Given the description of an element on the screen output the (x, y) to click on. 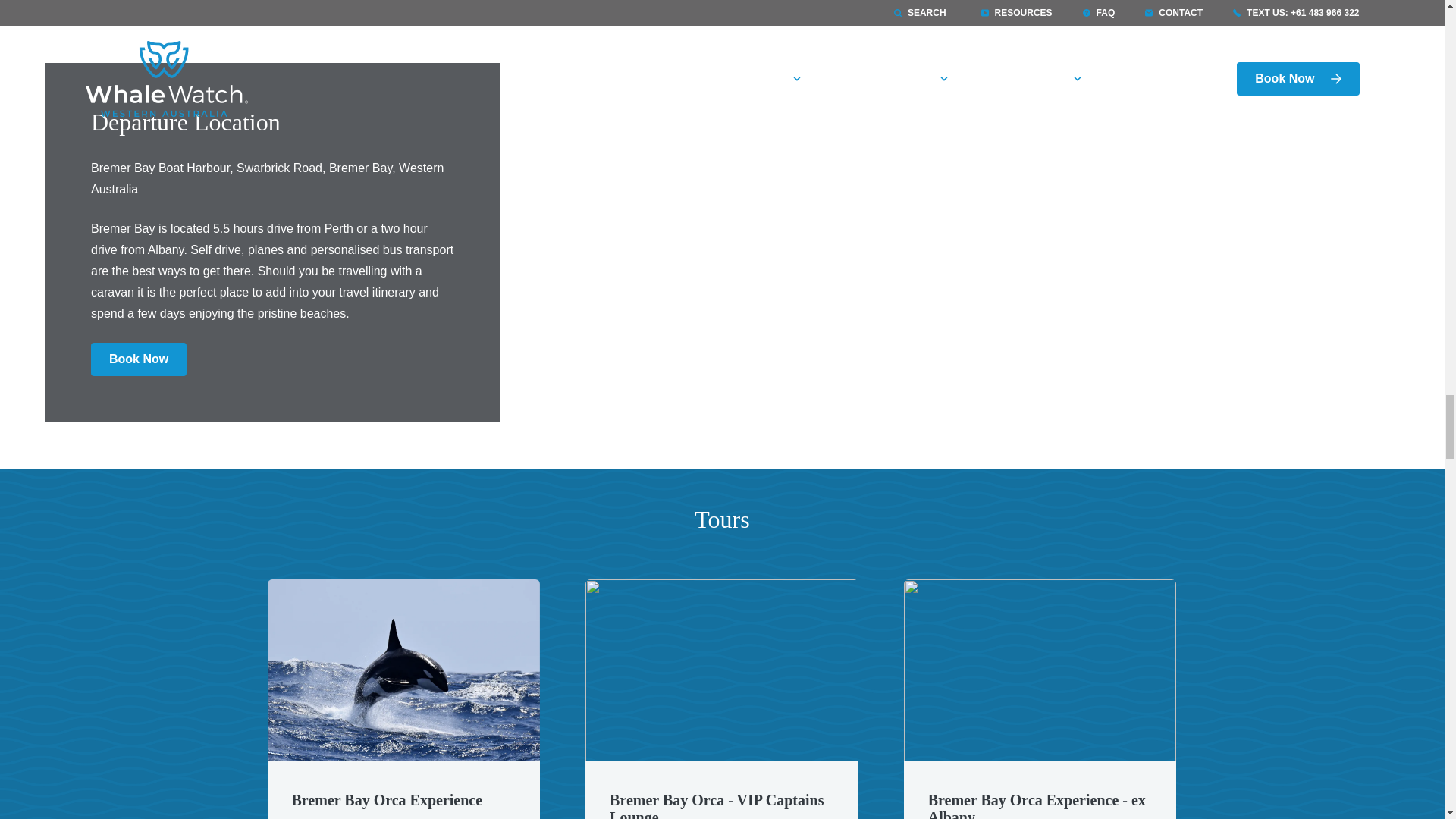
Book Now (138, 359)
